Given the description of an element on the screen output the (x, y) to click on. 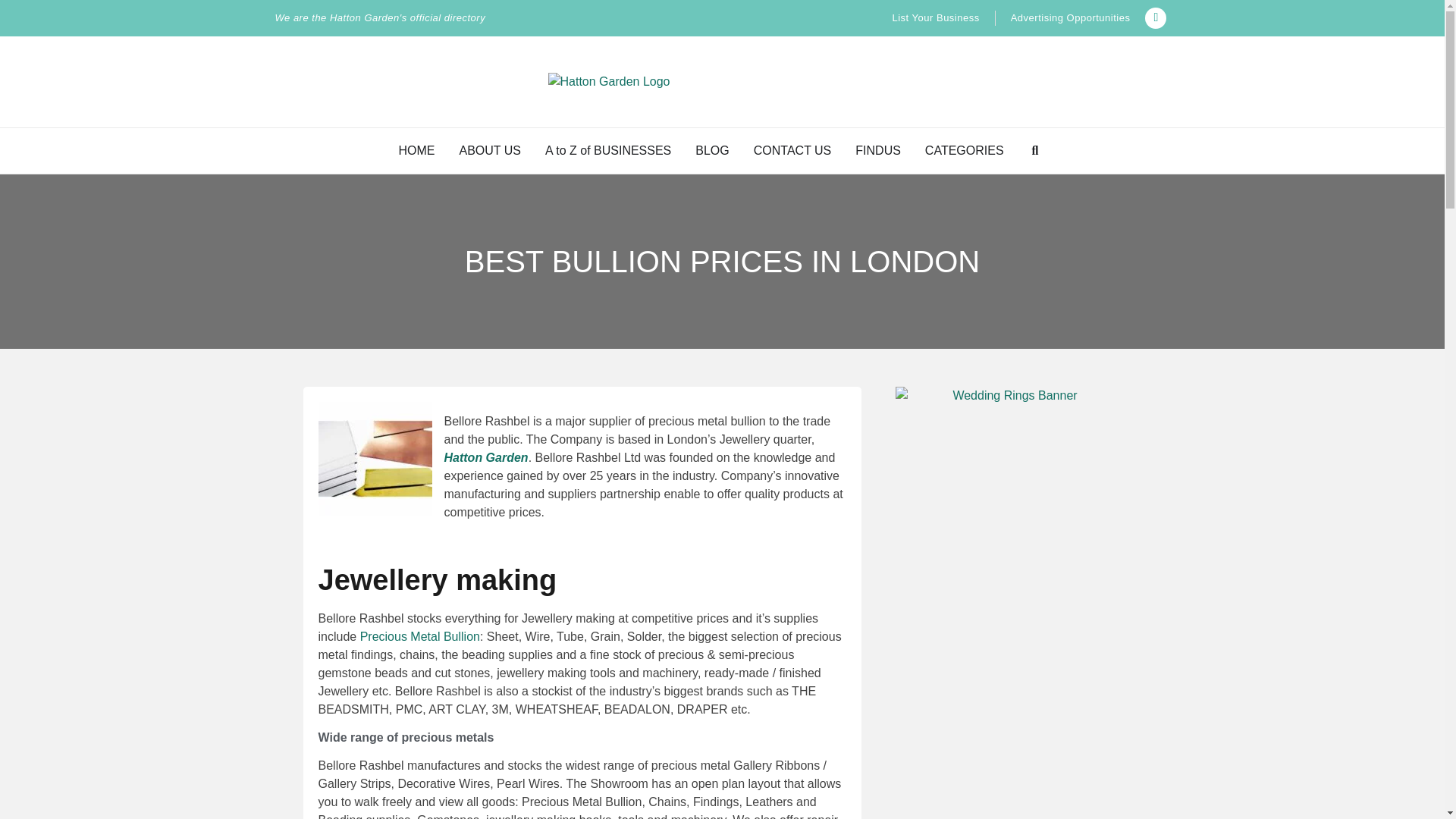
BLOG (712, 150)
HOME (416, 150)
ABOUT US (490, 150)
A to Z of BUSINESSES (607, 150)
FINDUS (878, 150)
Advertising Opportunities (1070, 17)
CONTACT US (792, 150)
List Your Business (934, 17)
